Given the description of an element on the screen output the (x, y) to click on. 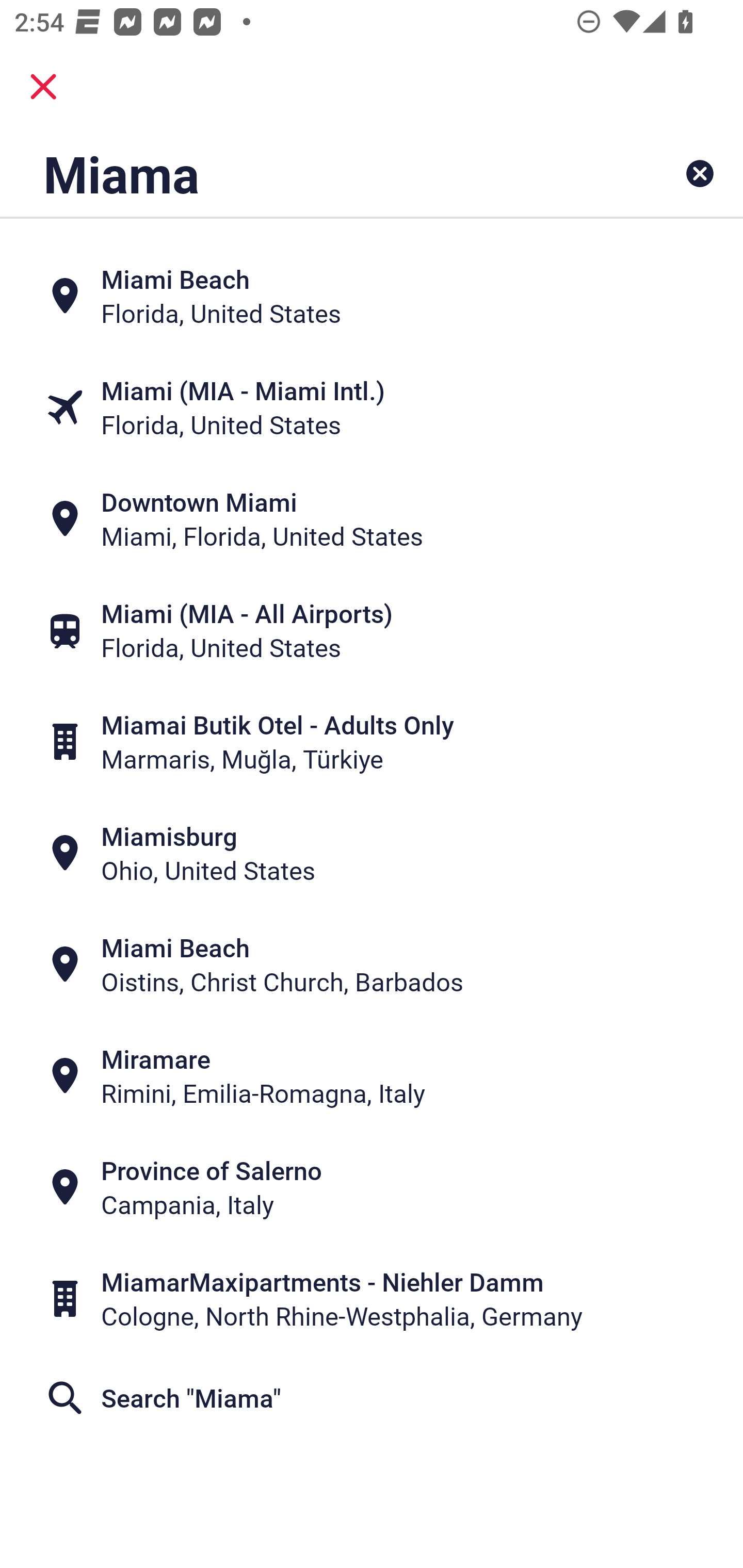
close. (43, 86)
Clear (699, 173)
Miama (306, 173)
Miami Beach Florida, United States (371, 295)
Miami (MIA - Miami Intl.) Florida, United States (371, 406)
Downtown Miami Miami, Florida, United States (371, 517)
Miami (MIA - All Airports) Florida, United States (371, 629)
Miamisburg Ohio, United States (371, 853)
Miami Beach Oistins, Christ Church, Barbados (371, 964)
Miramare Rimini, Emilia-Romagna, Italy (371, 1076)
Province of Salerno Campania, Italy (371, 1187)
Search "Miama" (371, 1397)
